Given the description of an element on the screen output the (x, y) to click on. 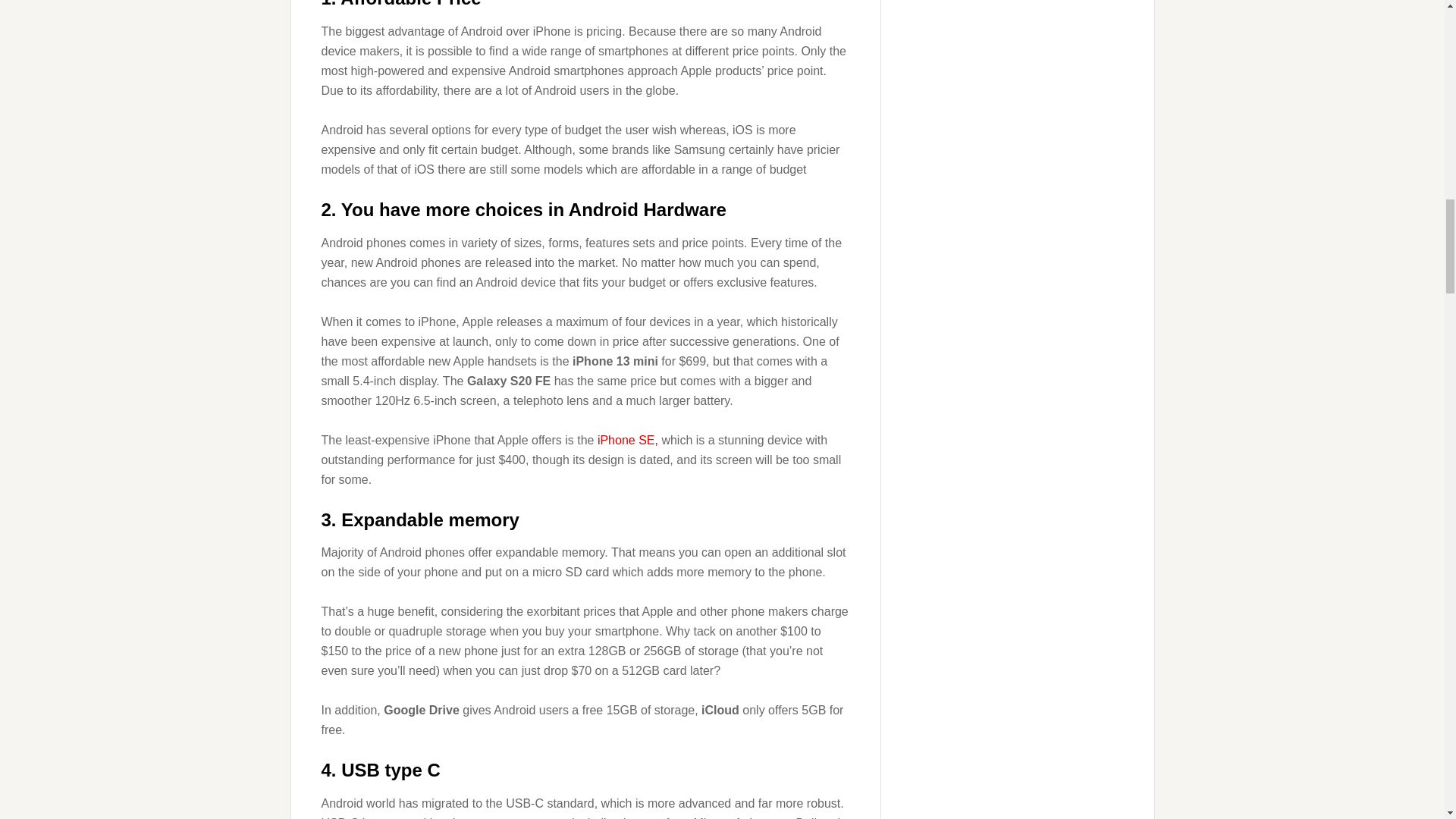
iPhone SE, (627, 440)
